Given the description of an element on the screen output the (x, y) to click on. 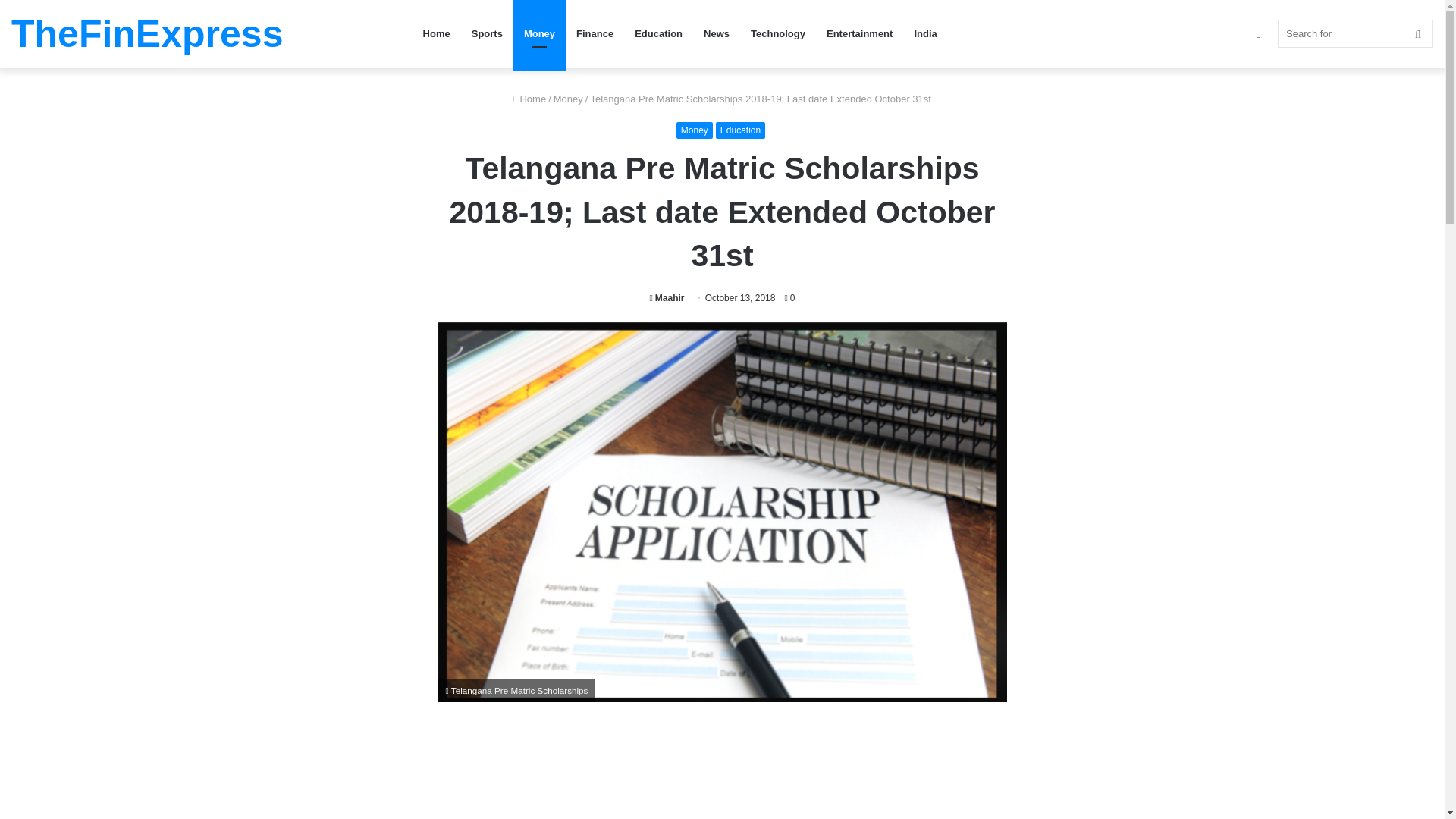
Education (658, 33)
Home (529, 98)
Search for (1355, 33)
Money (695, 130)
Technology (777, 33)
TheFinExpress (146, 34)
Maahir (666, 297)
Advertisement (722, 775)
Maahir (666, 297)
TheFinExpress (146, 34)
Entertainment (858, 33)
Money (568, 98)
Education (740, 130)
